Given the description of an element on the screen output the (x, y) to click on. 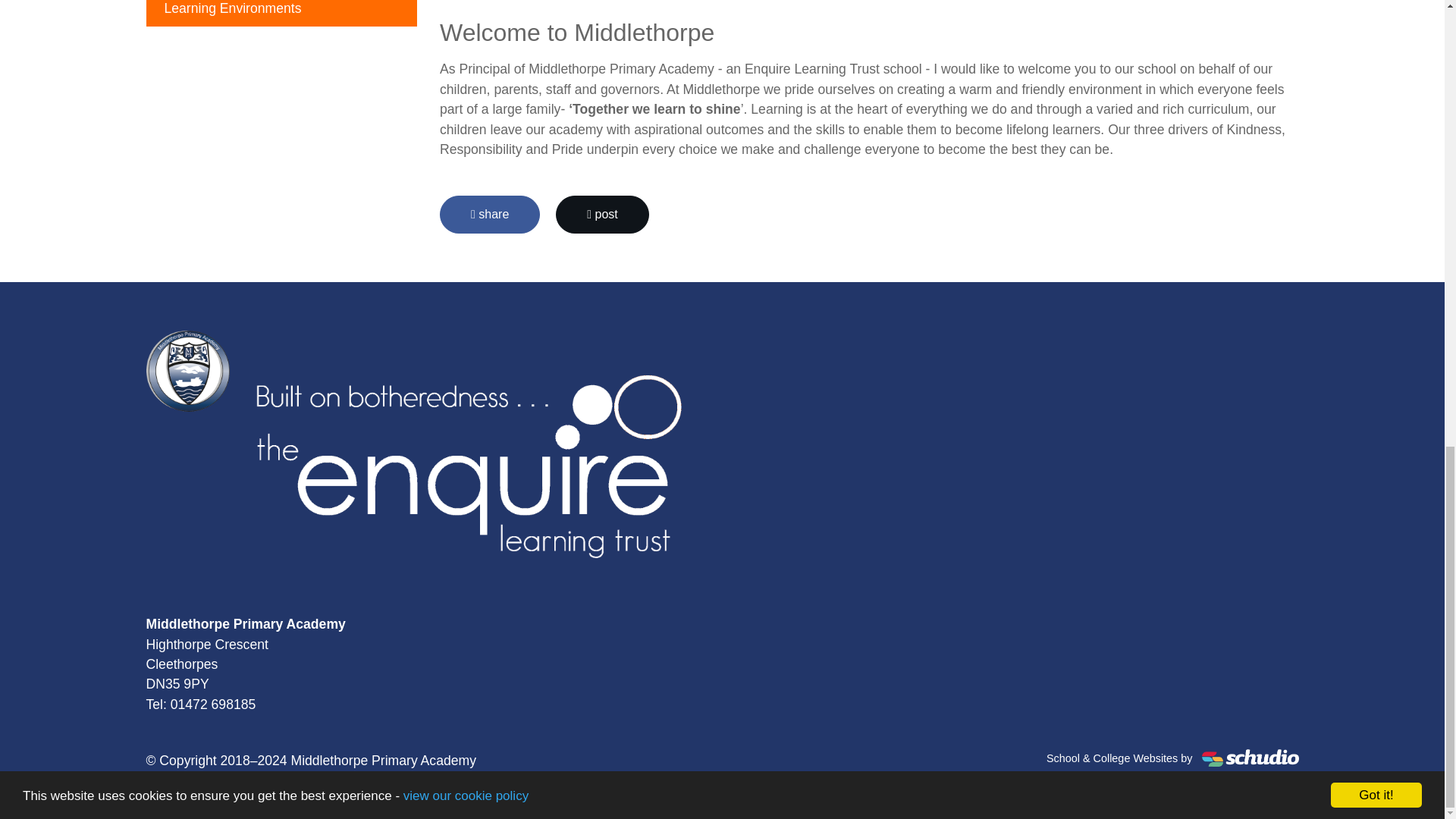
Post on X (602, 214)
Share on Facebook (489, 214)
